Given the description of an element on the screen output the (x, y) to click on. 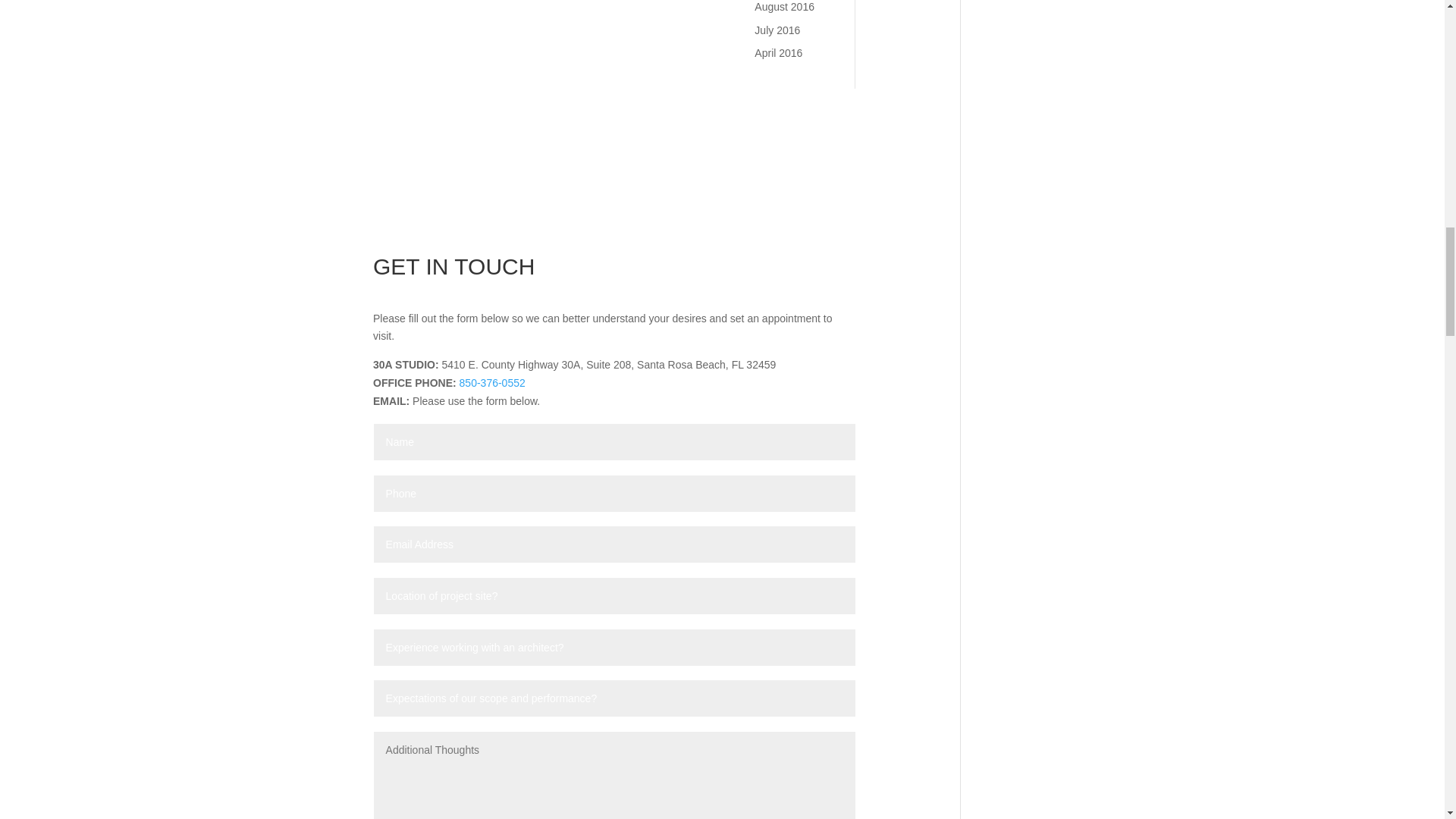
3 (614, 185)
3 (614, 188)
July 2016 (776, 30)
3 (614, 185)
August 2016 (783, 6)
April 2016 (778, 52)
3 (614, 185)
850-376-0552 (492, 382)
